Given the description of an element on the screen output the (x, y) to click on. 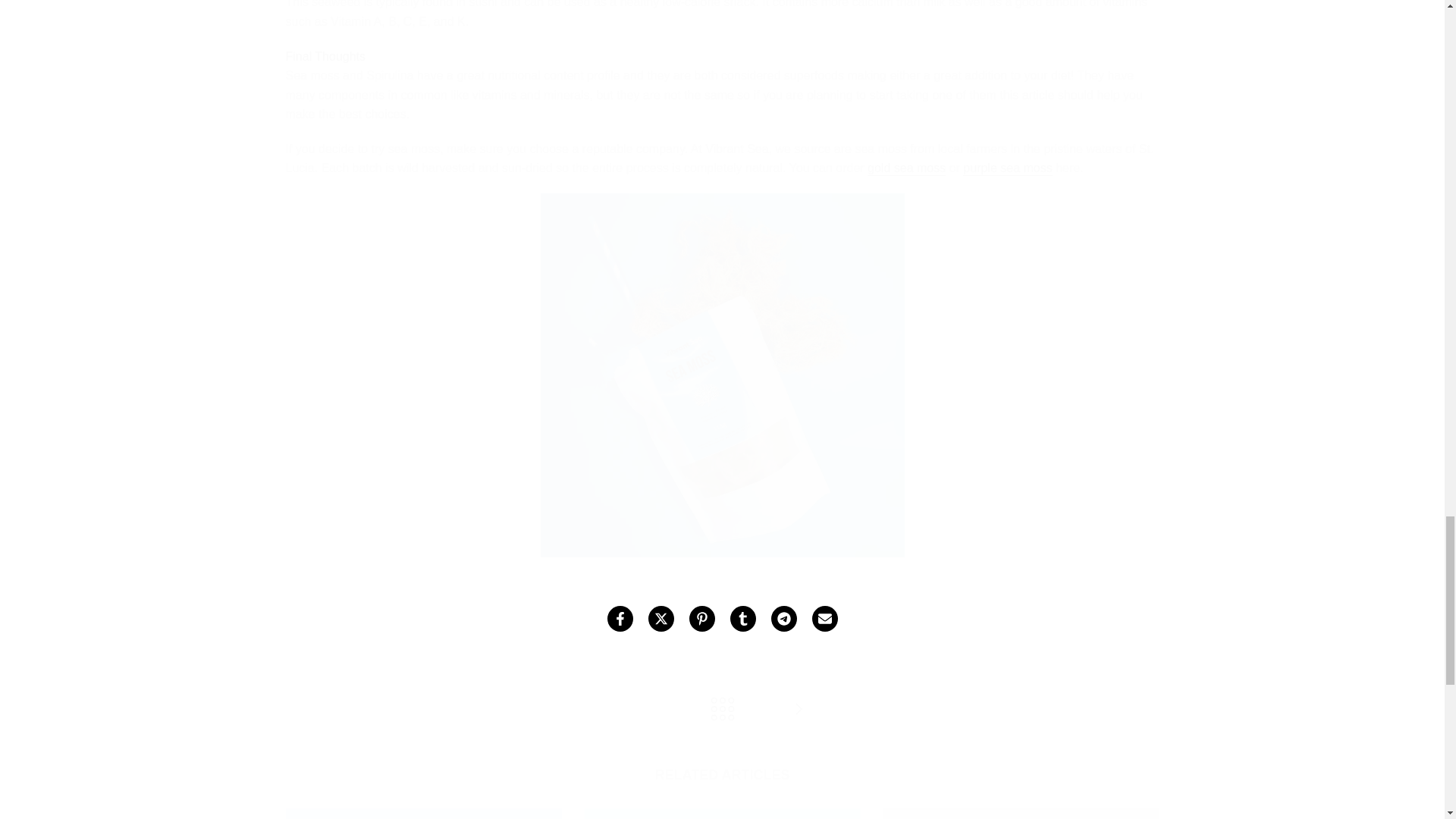
Share on Twitter (659, 618)
Share on Tumblr (742, 618)
gold sea moss (905, 168)
Share on Email (823, 618)
Share on Telegram (783, 618)
Purple Sea Moss (1006, 168)
Back to Learn Sea Moss (722, 709)
Share on Facebook (619, 618)
Share on Pinterest (701, 618)
Gold Sea Moss (905, 168)
Sea Moss Benefits For Hair (797, 709)
purple sea moss (1006, 168)
